Given the description of an element on the screen output the (x, y) to click on. 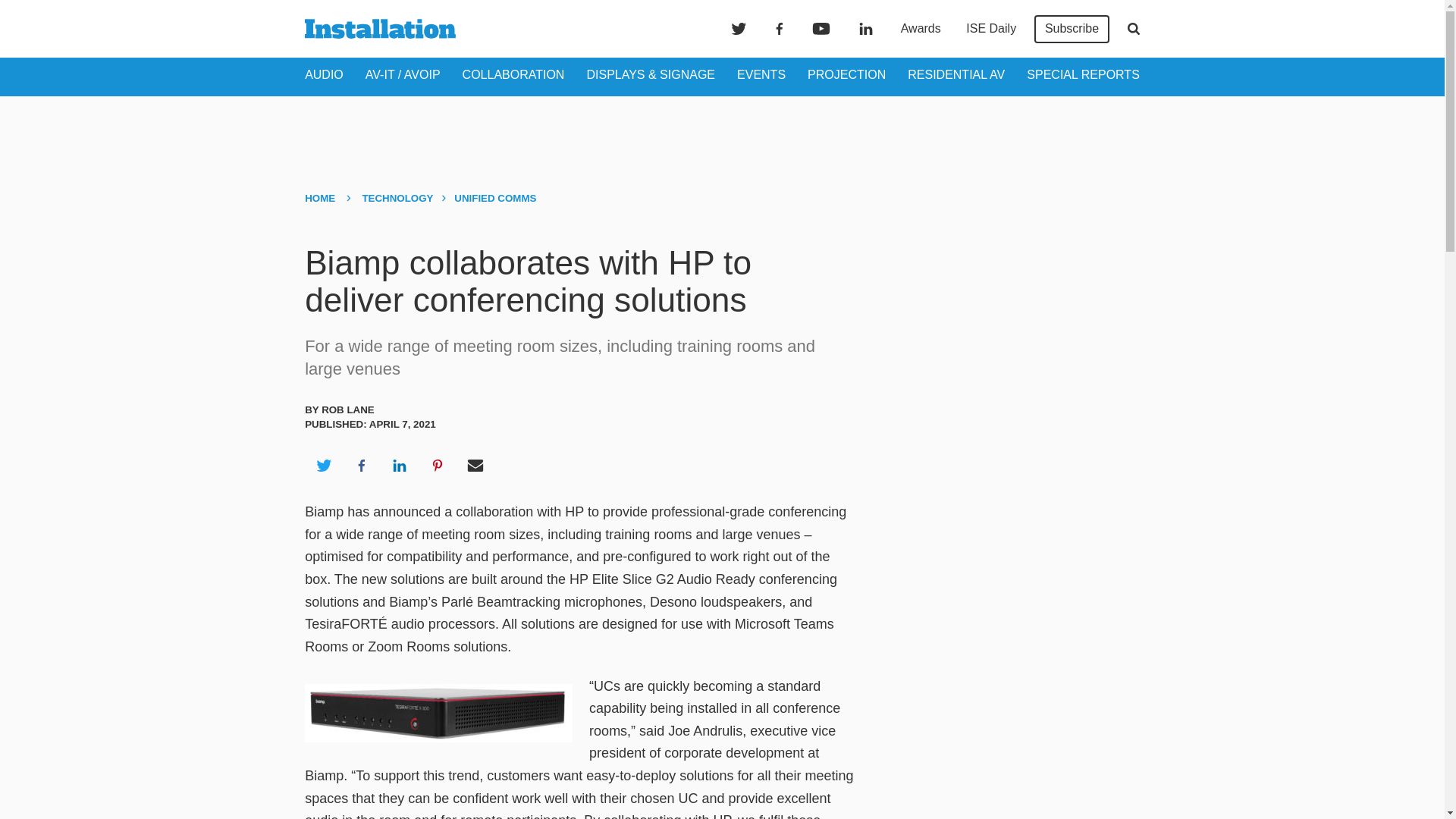
Share on Facebook (361, 465)
Subscribe (1071, 29)
Awards (921, 29)
Share on Twitter (323, 465)
ISE Daily (990, 29)
AUDIO (323, 74)
COLLABORATION (513, 74)
Rob Lane's Author Profile (347, 409)
Share via Email (476, 465)
Share on LinkedIn (399, 465)
Share on Pinterest (438, 465)
